Given the description of an element on the screen output the (x, y) to click on. 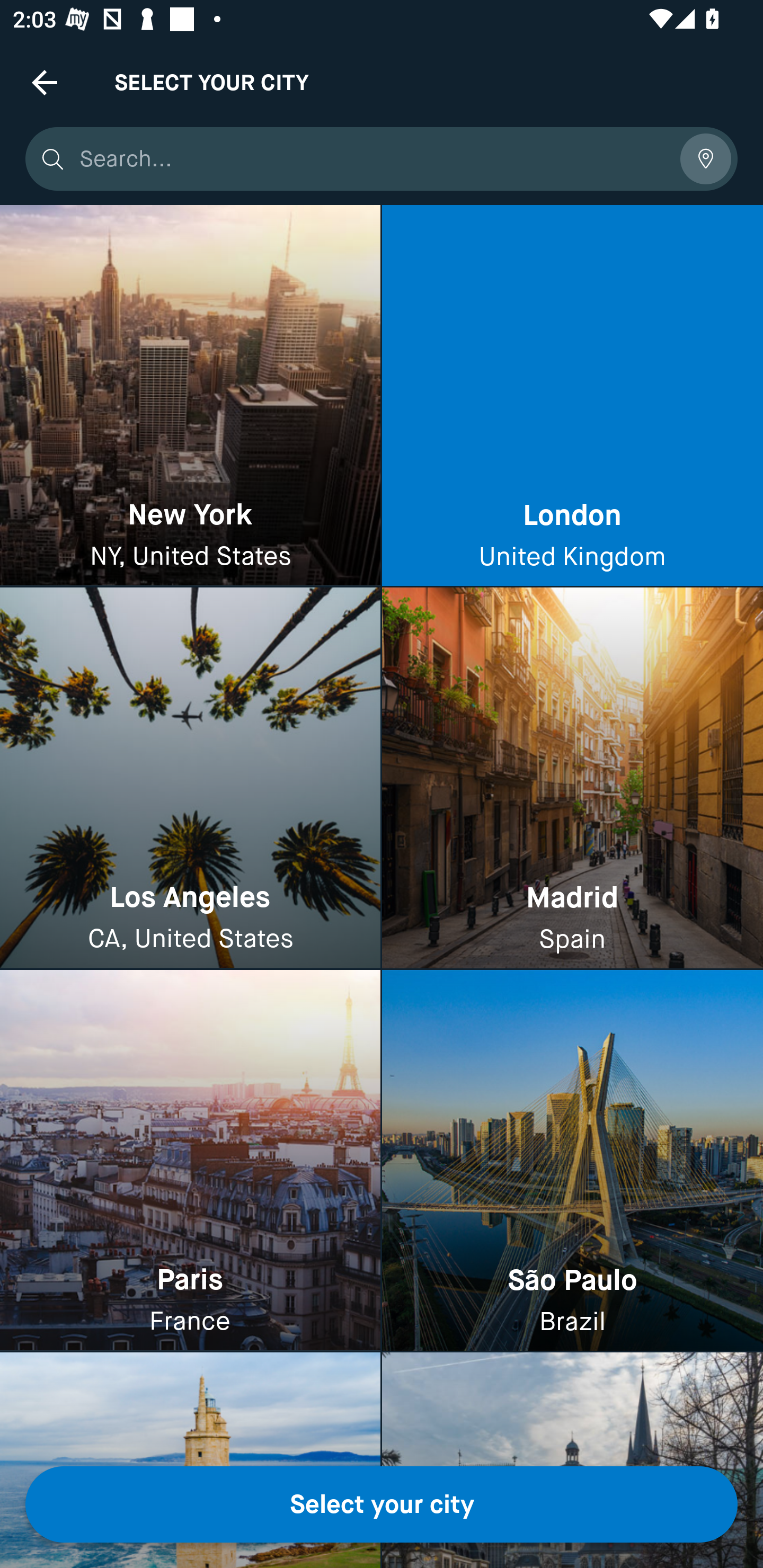
Navigate up (44, 82)
Search... (373, 159)
New York NY, United States (190, 395)
London United Kingdom (572, 395)
Los Angeles CA, United States (190, 778)
Madrid Spain (572, 778)
Paris France (190, 1160)
São Paulo Brazil (572, 1160)
Select your city (381, 1504)
